Given the description of an element on the screen output the (x, y) to click on. 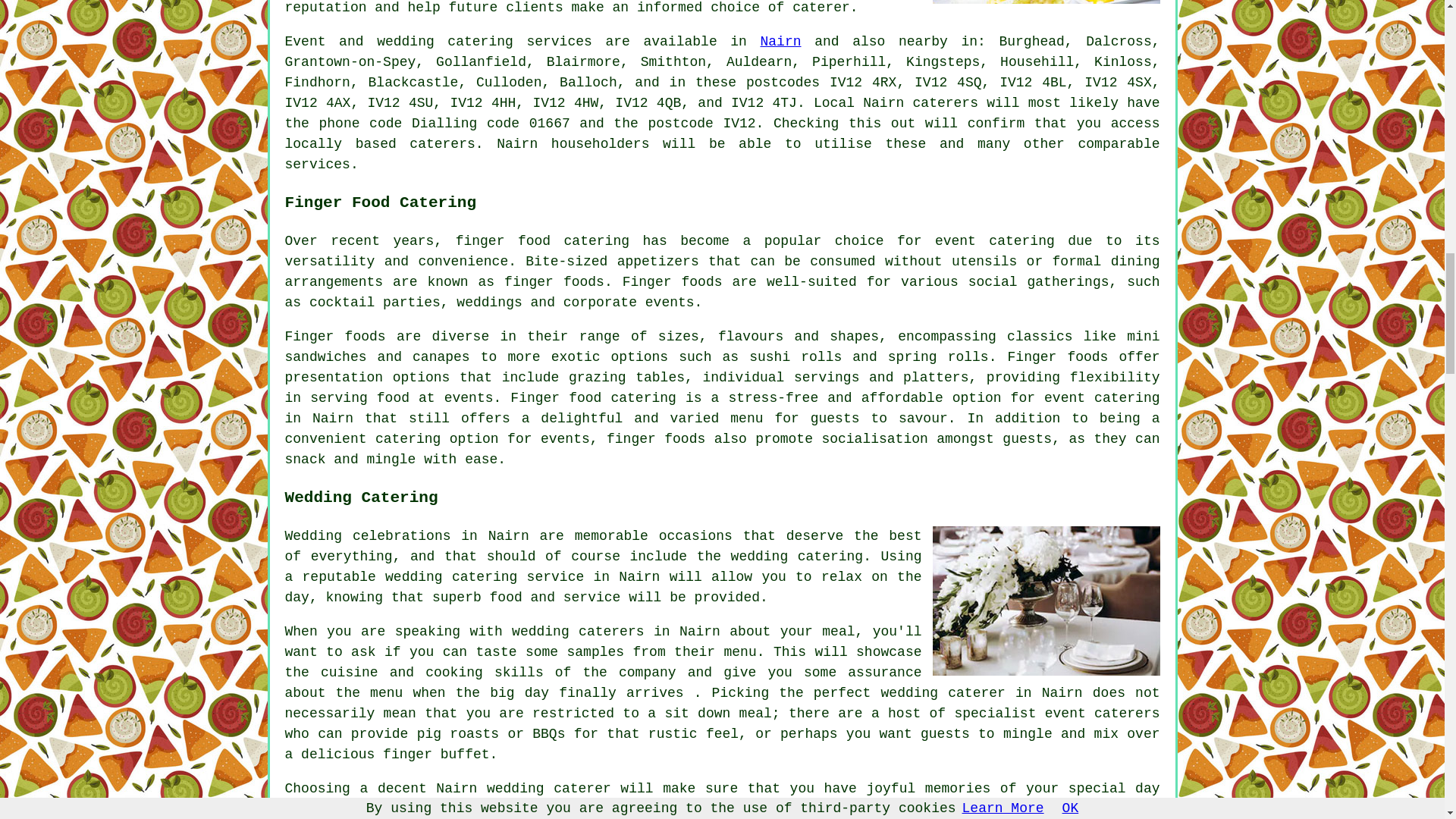
services (558, 41)
finger food (502, 240)
caterers (441, 143)
caterers (945, 102)
